Given the description of an element on the screen output the (x, y) to click on. 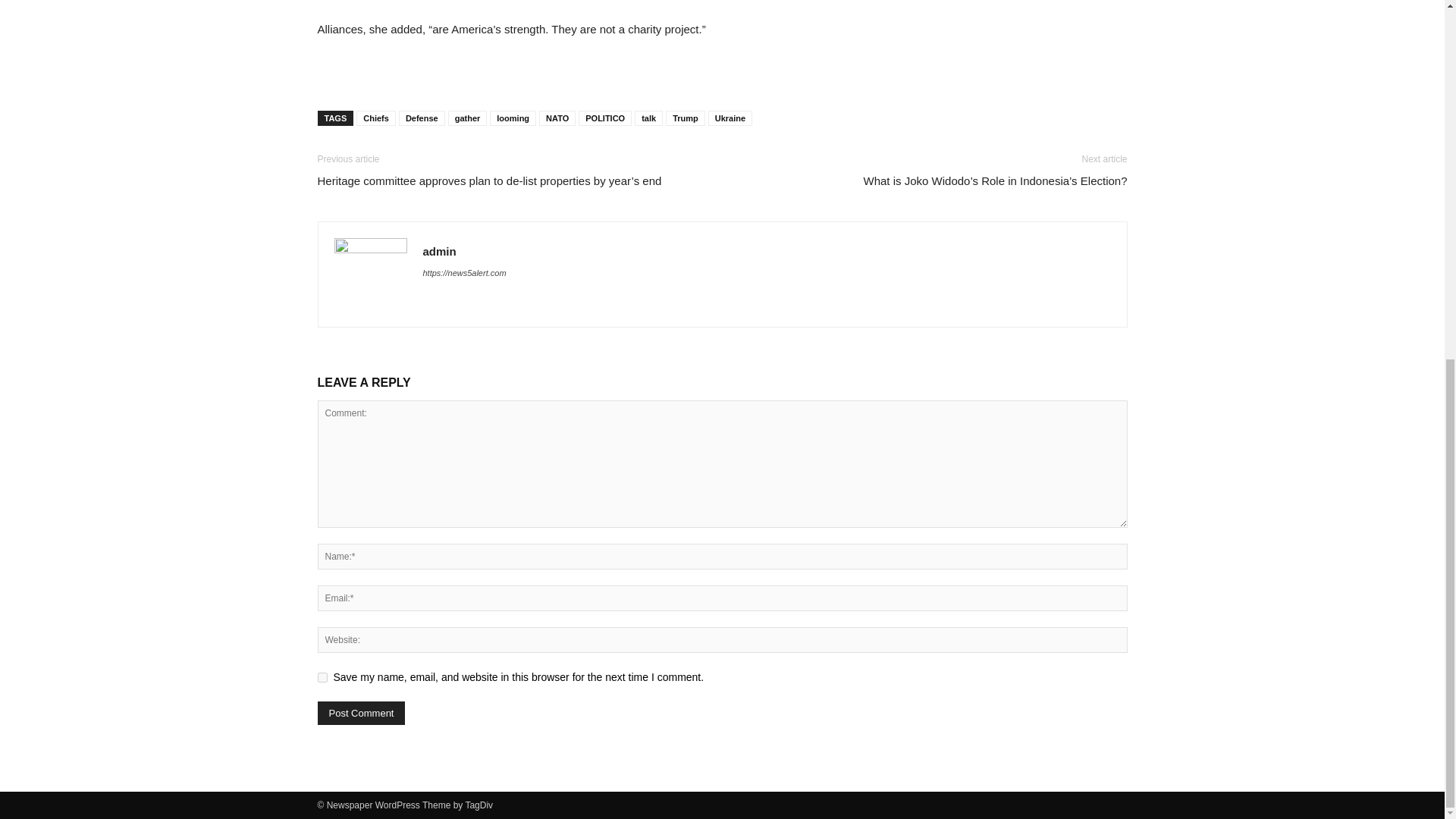
Trump (684, 118)
NATO (556, 118)
yes (321, 677)
Post Comment (360, 712)
looming (512, 118)
POLITICO (604, 118)
Post Comment (360, 712)
admin (440, 250)
Ukraine (729, 118)
Defense (421, 118)
